Given the description of an element on the screen output the (x, y) to click on. 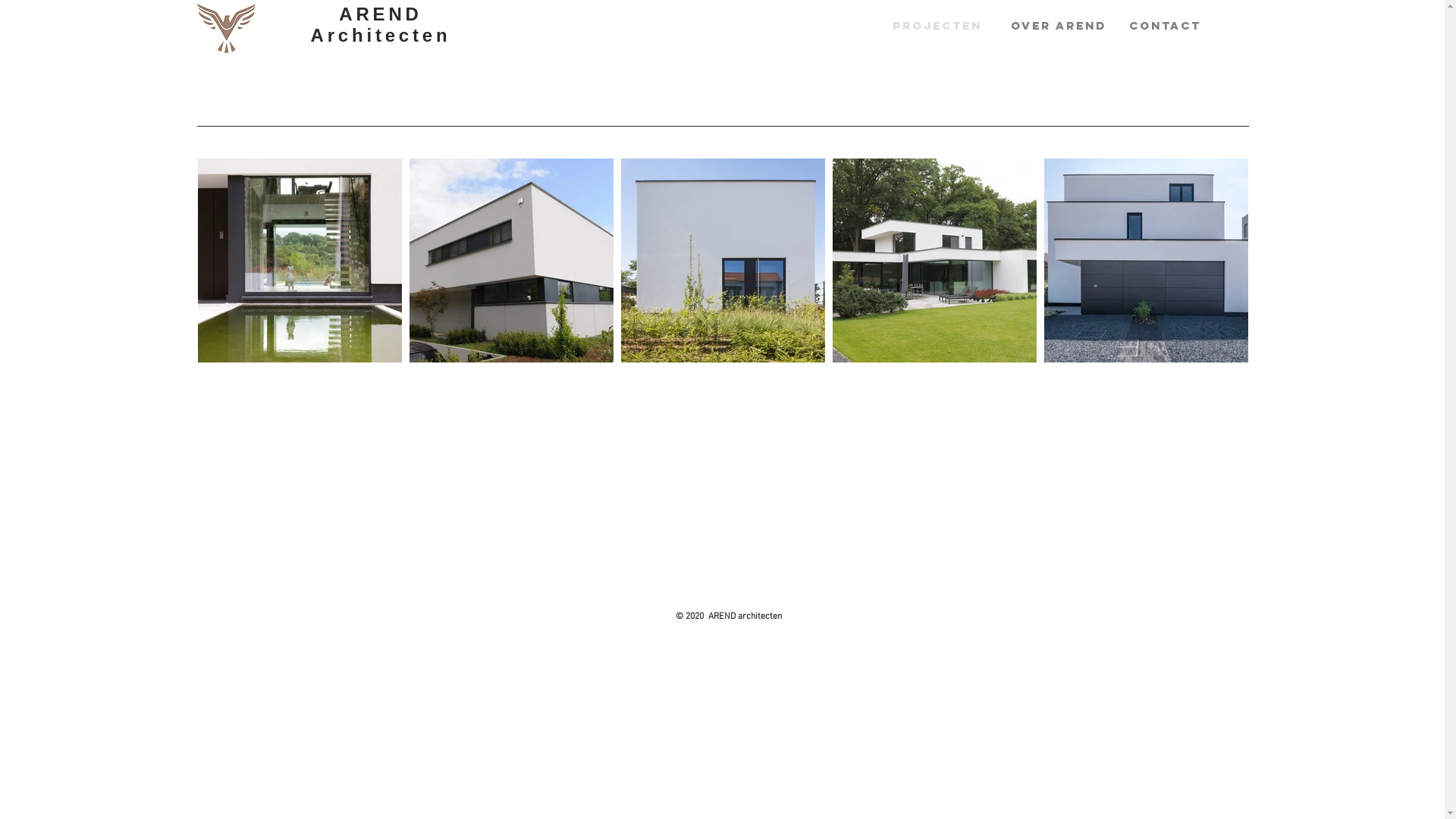
OVER AREND Element type: text (1058, 24)
Architecten Element type: text (380, 35)
Renovatie Element type: text (1100, 123)
Renovatie Element type: text (1198, 154)
CONTACT Element type: text (1176, 24)
Renovatie Element type: text (1168, 123)
Publiek Element type: text (986, 123)
AREND Element type: text (379, 13)
Nieuwbouw Element type: text (1082, 123)
PROJECTEN Element type: text (940, 24)
